Given the description of an element on the screen output the (x, y) to click on. 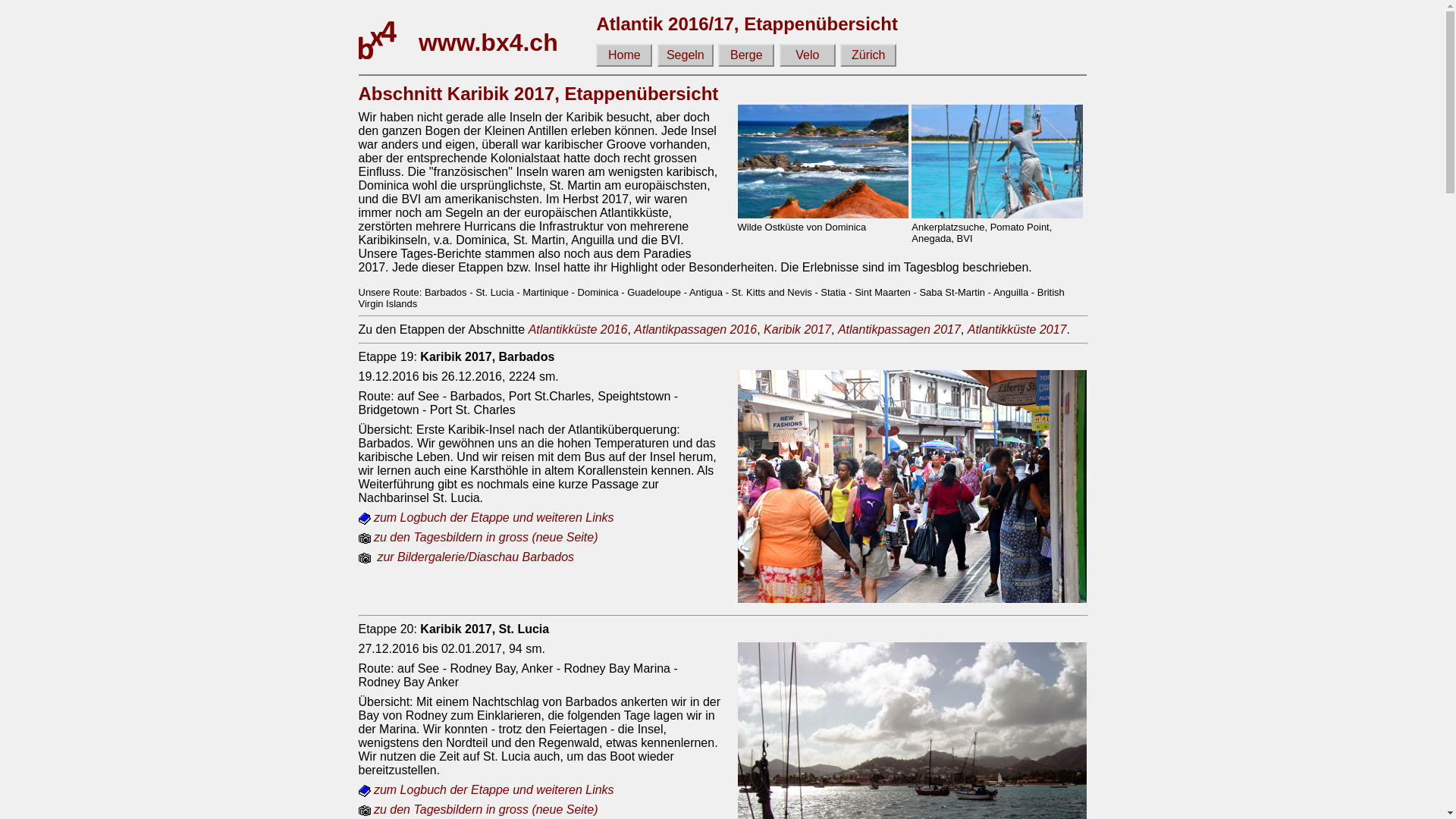
www.bx4.ch Element type: hover (376, 40)
zum Logbuch der Etappe und weiteren Links Element type: text (485, 789)
Segeln Element type: text (686, 54)
zu den Tagesbildern in gross (neue Seite) Element type: text (477, 536)
zum Logbuch der Etappe und weiteren Links Element type: text (485, 517)
Velo Element type: text (808, 54)
Atlantikpassagen 2016 Element type: text (694, 329)
 zur Bildergalerie/Diaschau Barbados Element type: text (465, 556)
www.bx4.ch Element type: text (494, 42)
Karibik 2017 Element type: text (797, 329)
Atlantikpassagen 2017 Element type: text (898, 329)
Berge Element type: text (746, 54)
zu den Tagesbildern in gross (neue Seite) Element type: text (477, 809)
Home Element type: text (624, 54)
